Given the description of an element on the screen output the (x, y) to click on. 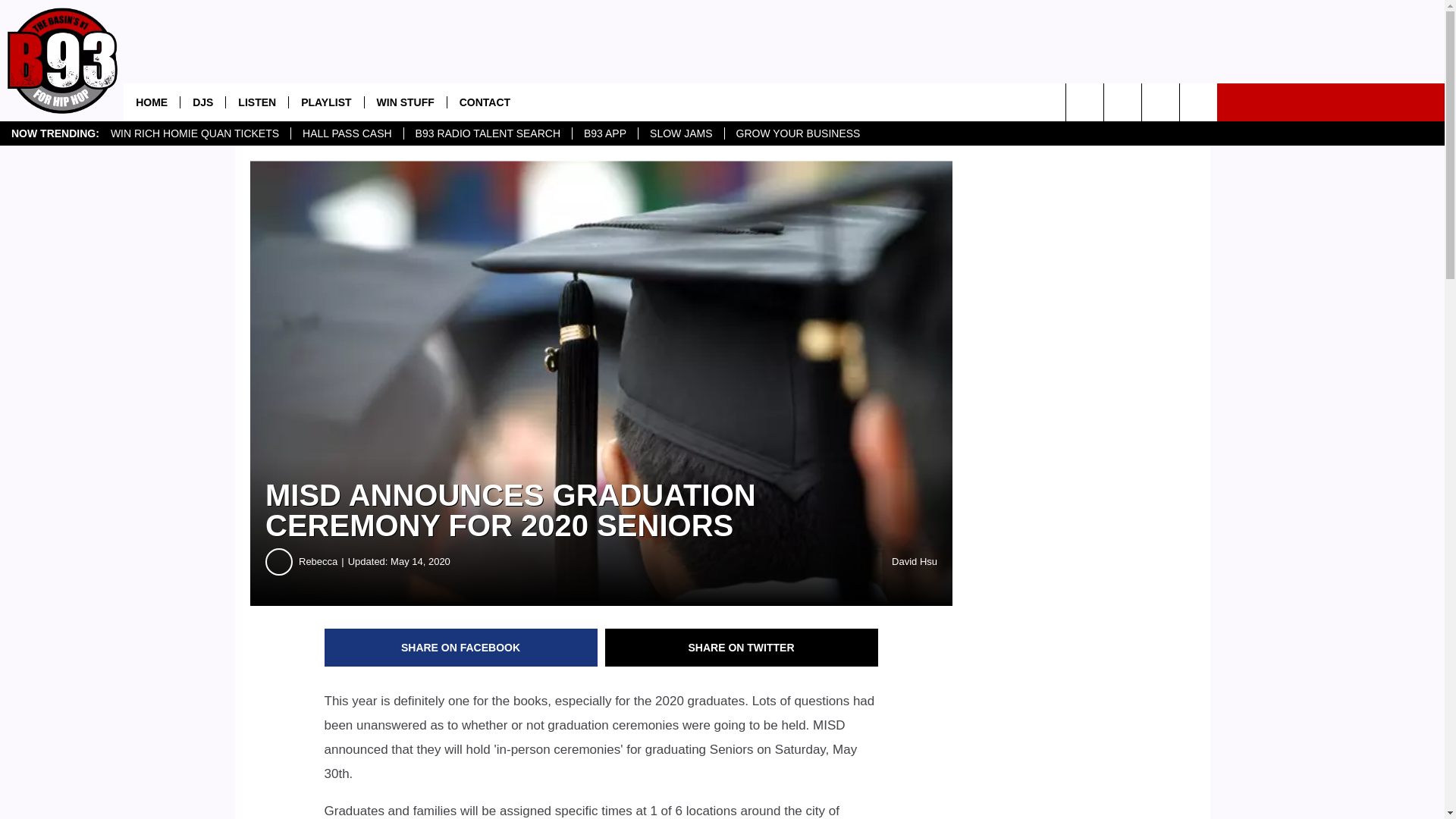
GROW YOUR BUSINESS (797, 133)
CONTACT (484, 102)
SLOW JAMS (680, 133)
B93 APP (604, 133)
HALL PASS CASH (346, 133)
DJS (202, 102)
LISTEN (256, 102)
WIN RICH HOMIE QUAN TICKETS (194, 133)
Share on Facebook (460, 647)
Share on Twitter (741, 647)
